Given the description of an element on the screen output the (x, y) to click on. 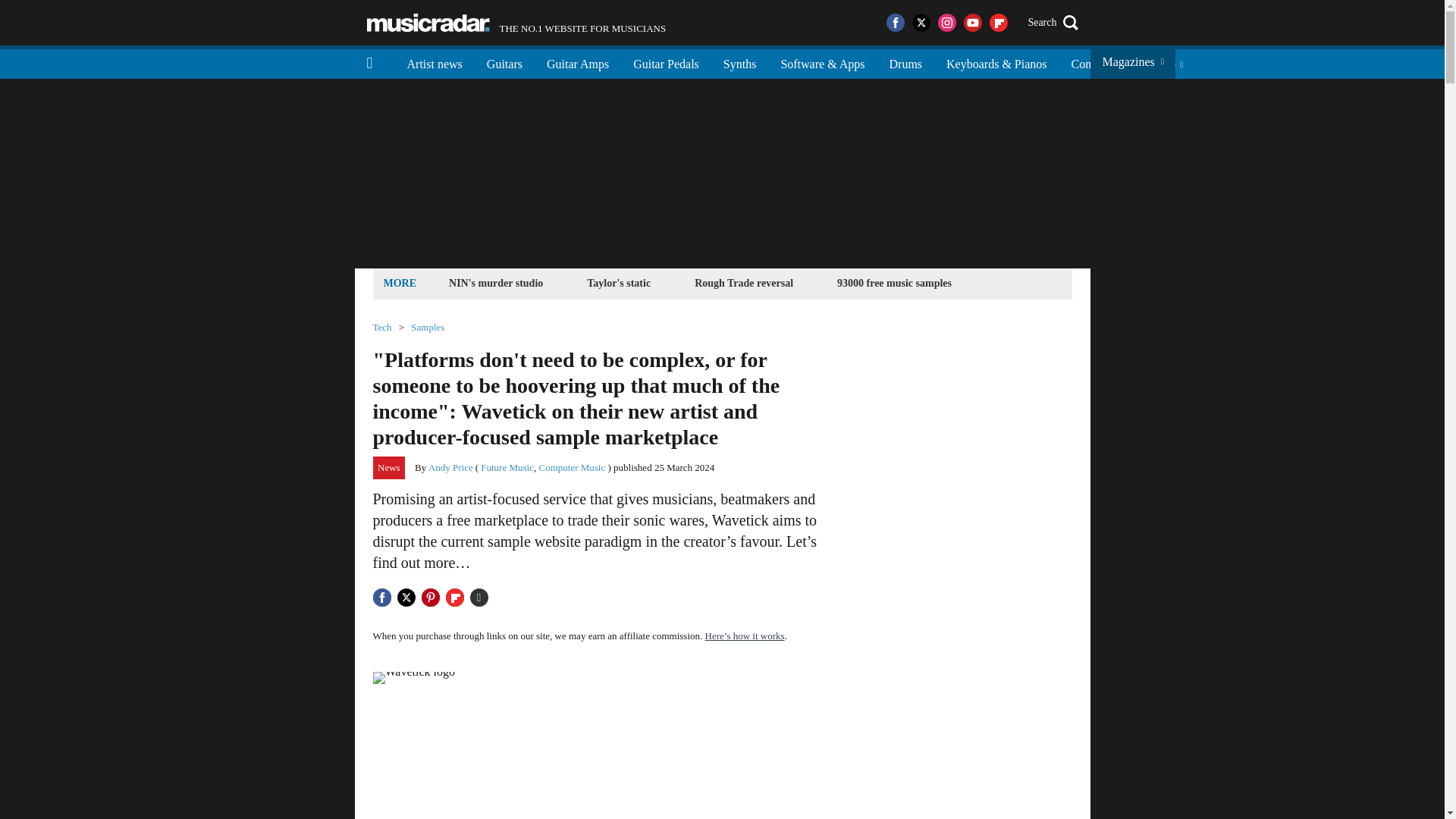
Guitars (504, 61)
Guitar Amps (577, 61)
Synths (739, 61)
Artist news (434, 61)
NIN's murder studio (496, 282)
Taylor's static (618, 282)
93000 free music samples (516, 22)
Drums (893, 282)
Rough Trade reversal (905, 61)
